Given the description of an element on the screen output the (x, y) to click on. 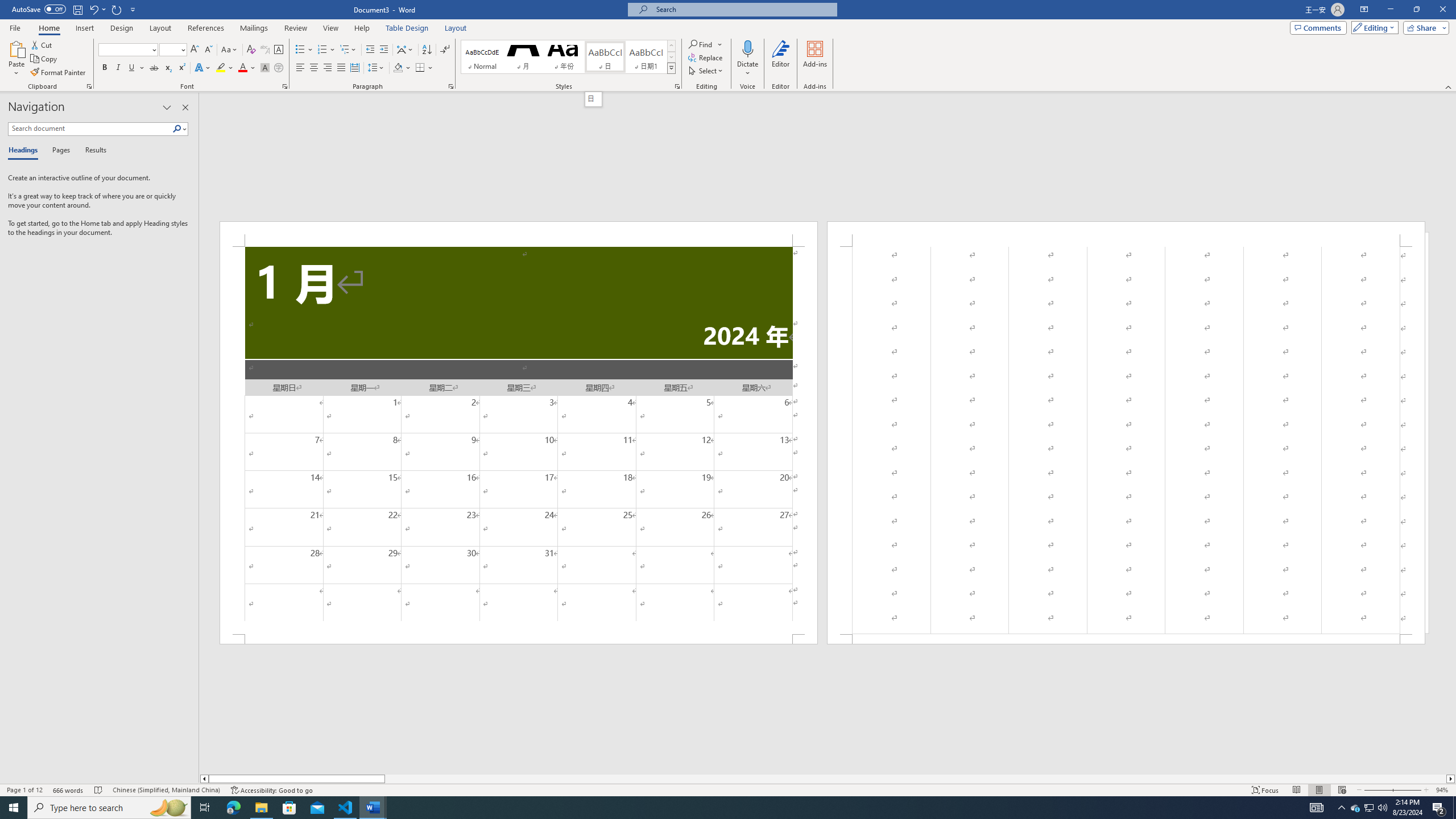
Underline (131, 67)
Styles... (676, 85)
Strikethrough (154, 67)
Paste (16, 48)
Undo Text Fill Effect (92, 9)
Font Color (246, 67)
Results (91, 150)
Office Clipboard... (88, 85)
Shading (402, 67)
Cut (42, 44)
Align Right (327, 67)
Character Shading (264, 67)
AutoSave (38, 9)
